Given the description of an element on the screen output the (x, y) to click on. 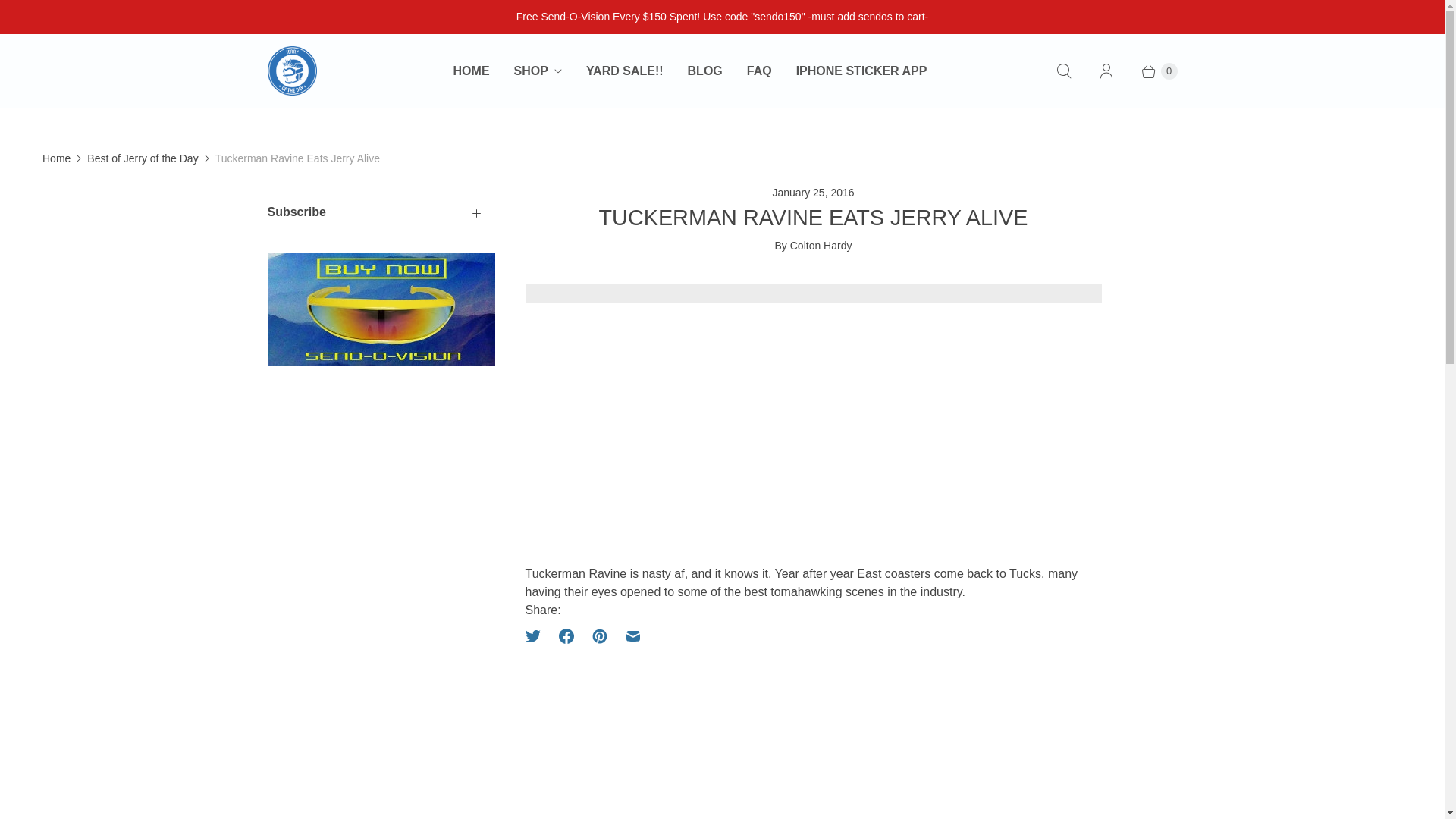
Share this on Facebook (565, 635)
FAQ (759, 71)
Email this to a friend (632, 635)
IPHONE STICKER APP (861, 71)
BLOG (705, 71)
0 (1151, 71)
YARD SALE!! (624, 71)
Share this on Pinterest (598, 635)
HOME (471, 71)
